Given the description of an element on the screen output the (x, y) to click on. 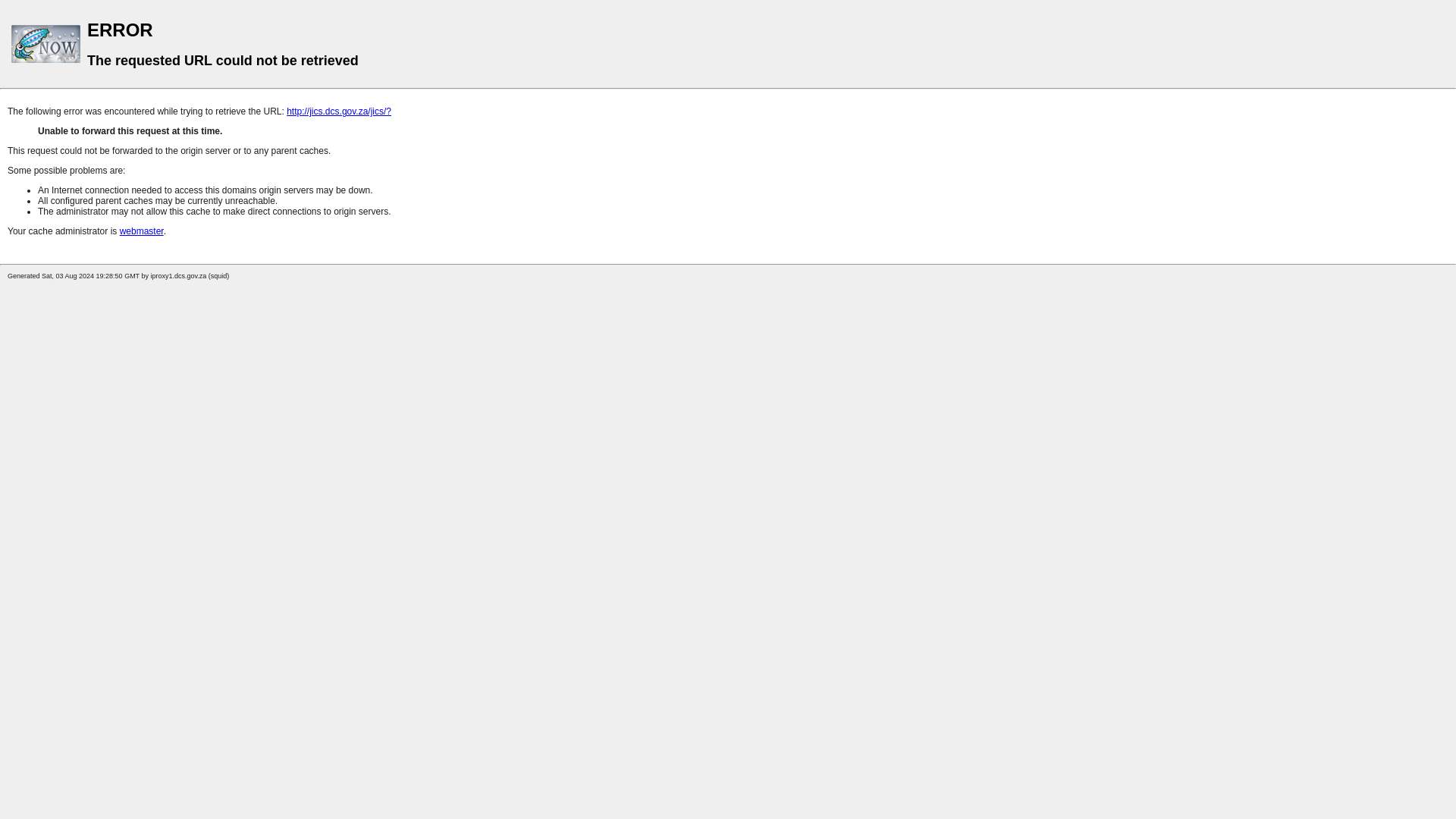
webmaster (141, 231)
